Given the description of an element on the screen output the (x, y) to click on. 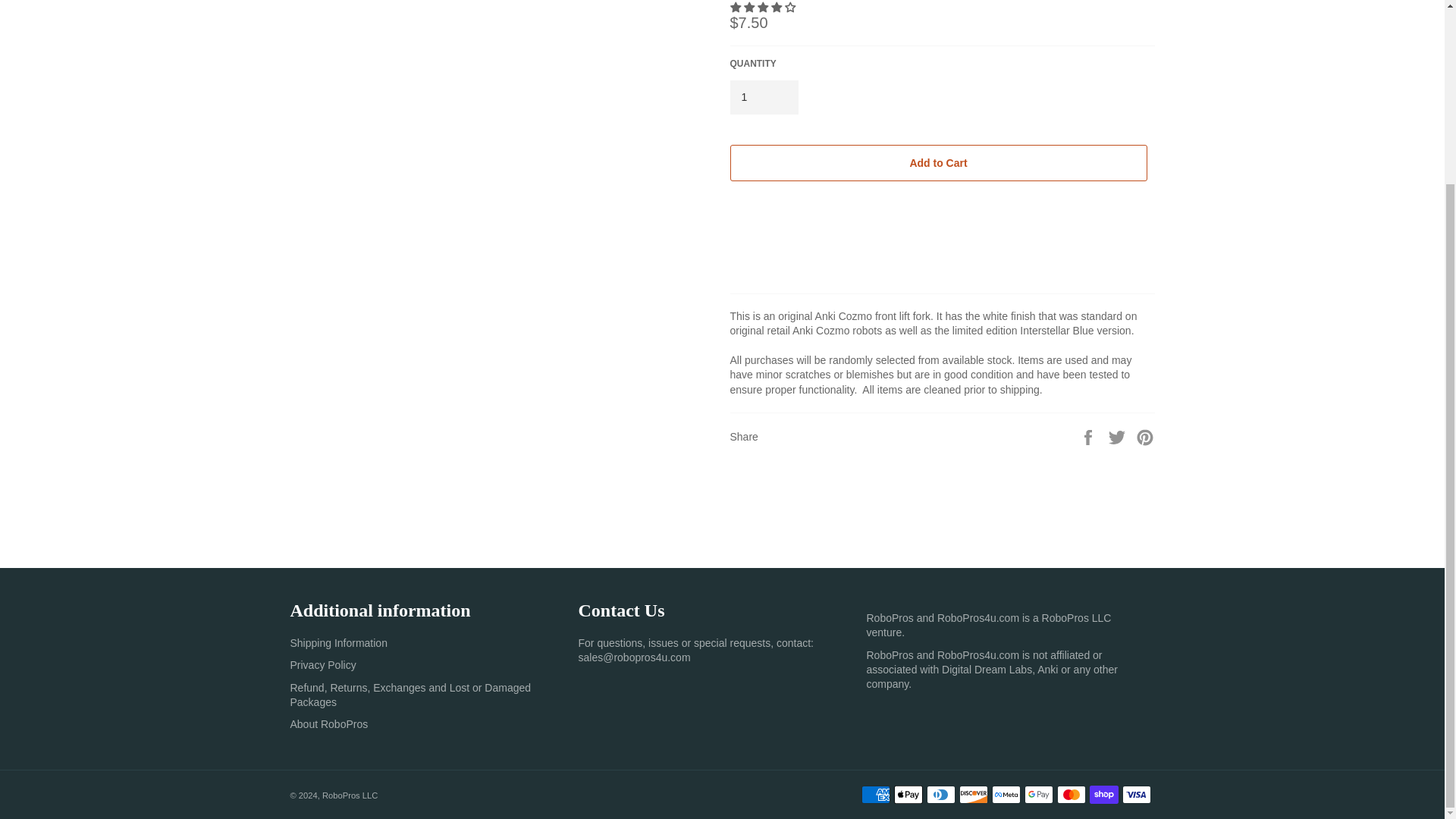
About RoboPros (328, 724)
Add to Cart (938, 162)
Shipping Information (338, 643)
Tweet on Twitter (1118, 436)
Share on Facebook (1089, 436)
Pin on Pinterest (1144, 436)
Pin on Pinterest (1144, 436)
Privacy Policy (322, 664)
Refund, Returns, Exchanges and Lost or Damaged Packages (410, 694)
Tweet on Twitter (1118, 436)
